Given the description of an element on the screen output the (x, y) to click on. 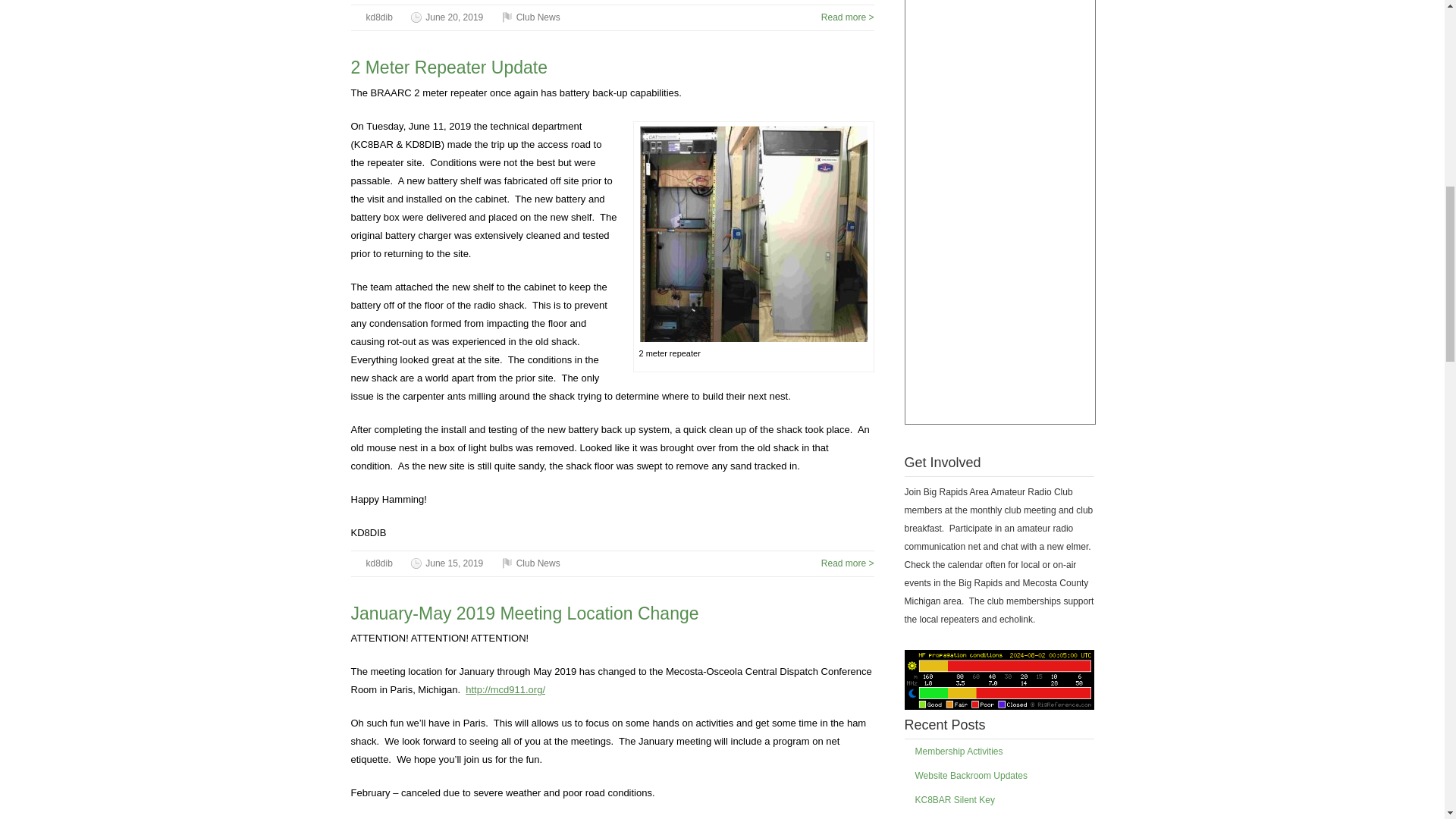
Posts by kd8dib (378, 562)
Posts by kd8dib (378, 17)
kd8dib (378, 17)
2 Meter Repeater Update (448, 66)
June 20, 2019 (454, 17)
January-May 2019 Meeting Location Change (524, 613)
Club News (538, 17)
June 15, 2019 (454, 562)
kd8dib (378, 562)
Club News (538, 562)
